Given the description of an element on the screen output the (x, y) to click on. 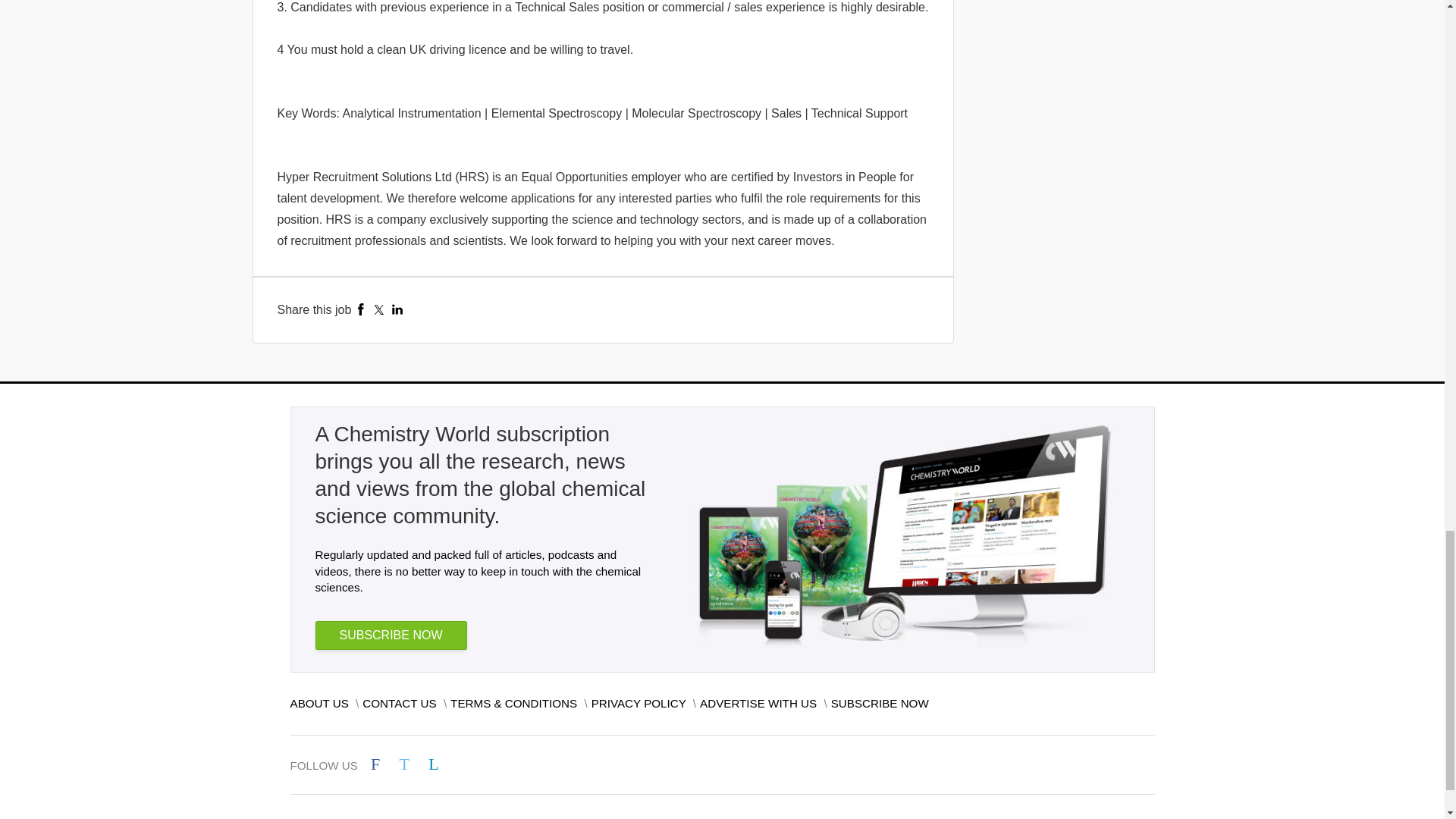
Facebook (360, 309)
Twitter (378, 309)
LinkedIn (397, 309)
